Given the description of an element on the screen output the (x, y) to click on. 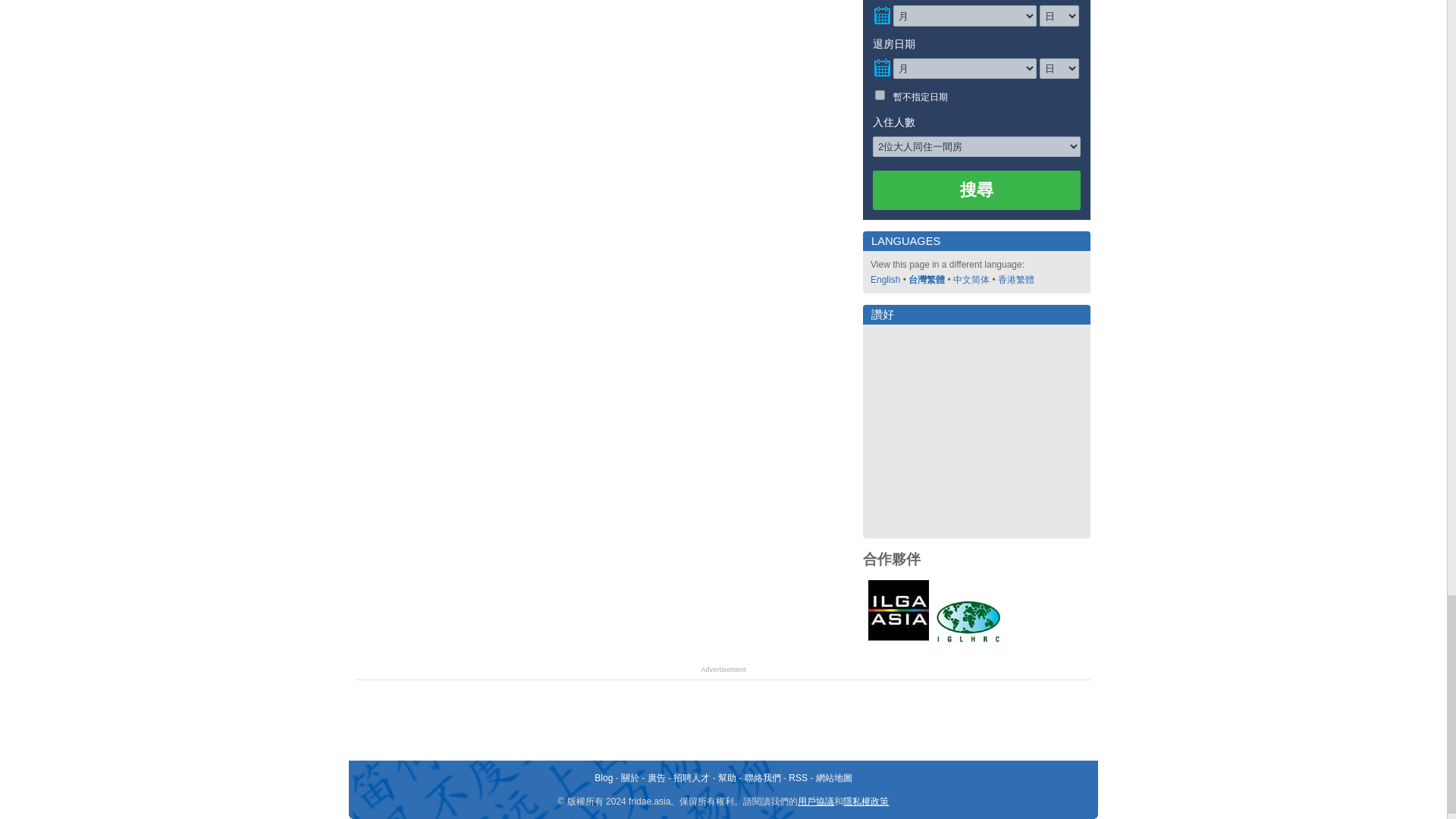
... (881, 15)
on (880, 94)
IGLHRC - Fridae Partner for LGBT rights in Asia (967, 621)
... (881, 67)
ILGA Asia - Fridae partner for LGBT rights in Asia (897, 610)
IGLHRC - Fridae Partner for LGBT rights in Asia (967, 640)
ILGA Asia - Fridae partner for LGBT rights in Asia (897, 640)
